Given the description of an element on the screen output the (x, y) to click on. 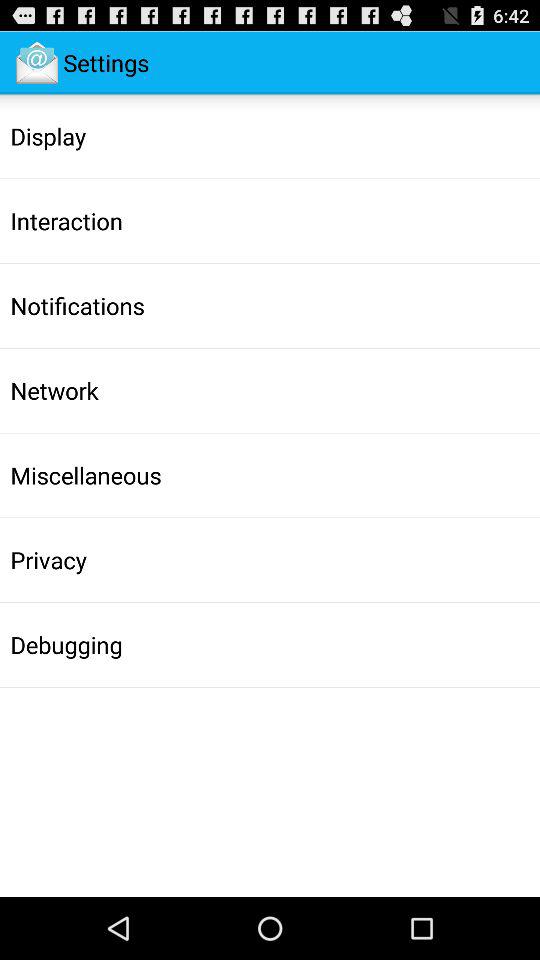
select app above the notifications (66, 221)
